Given the description of an element on the screen output the (x, y) to click on. 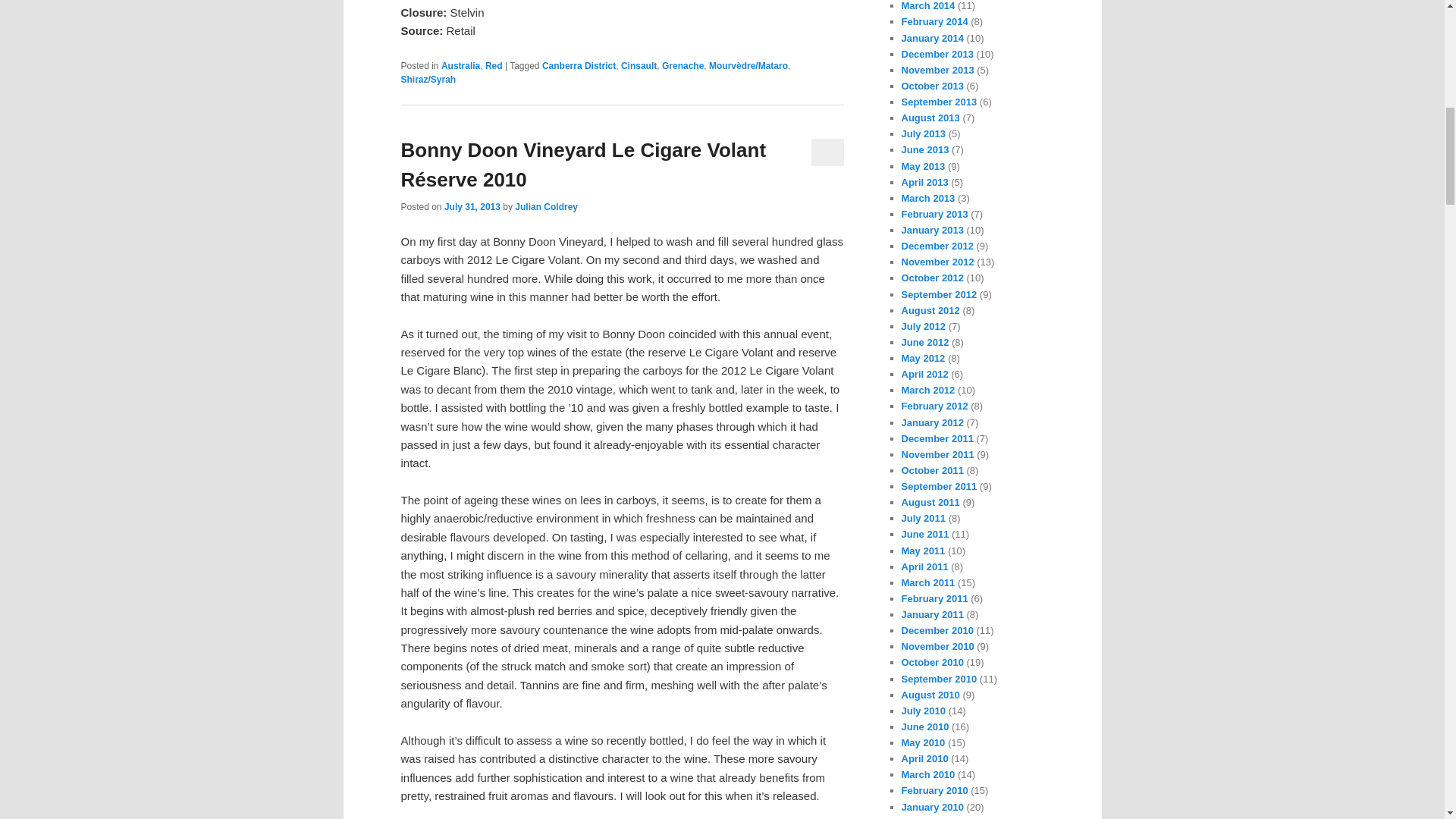
Red (493, 65)
4:31 am (472, 206)
Australia (460, 65)
Canberra District (578, 65)
July 31, 2013 (472, 206)
Cinsault (638, 65)
Grenache (682, 65)
Julian Coldrey (546, 206)
View all posts by Julian Coldrey (546, 206)
